Given the description of an element on the screen output the (x, y) to click on. 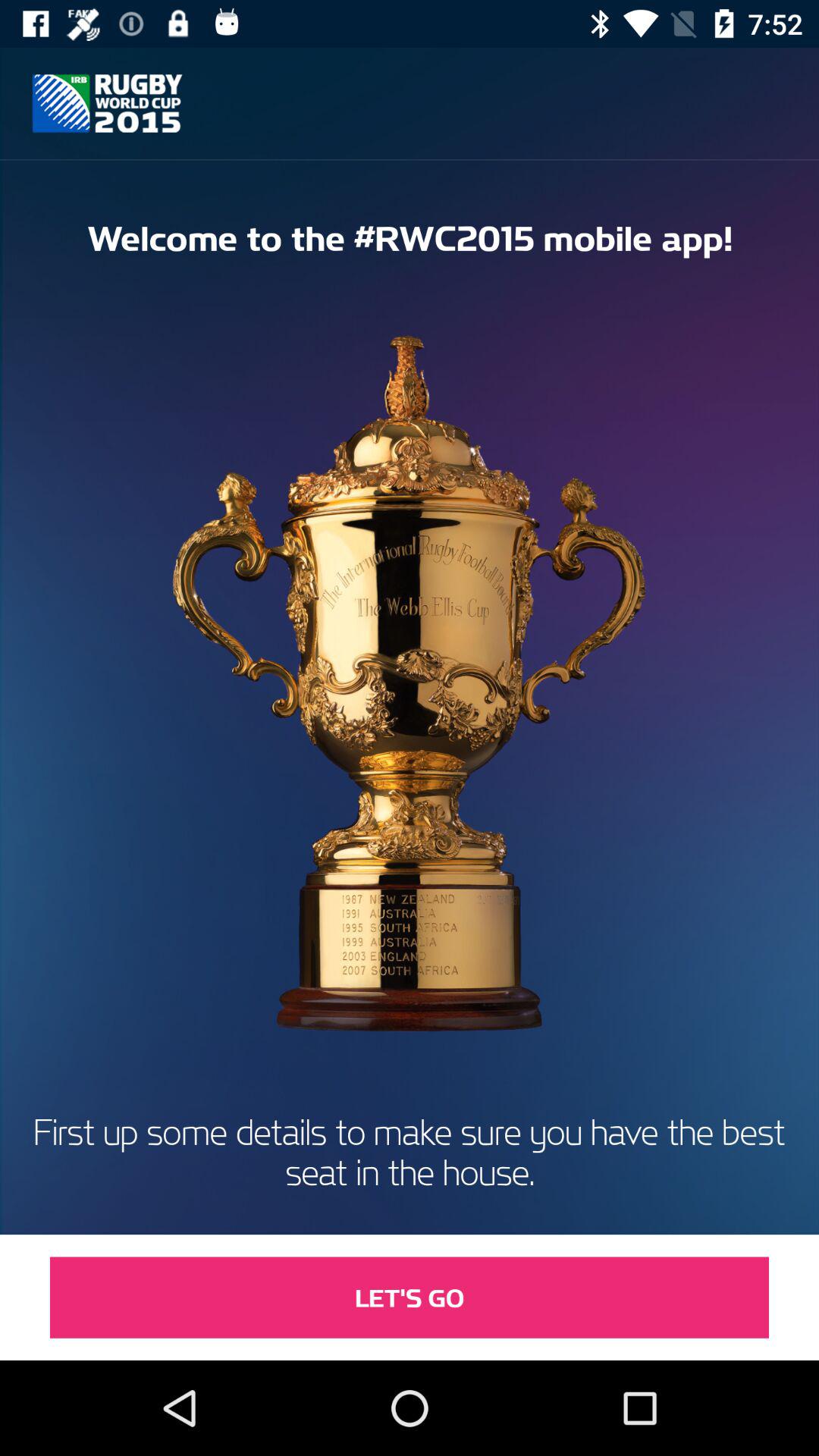
flip to let's go (409, 1297)
